Given the description of an element on the screen output the (x, y) to click on. 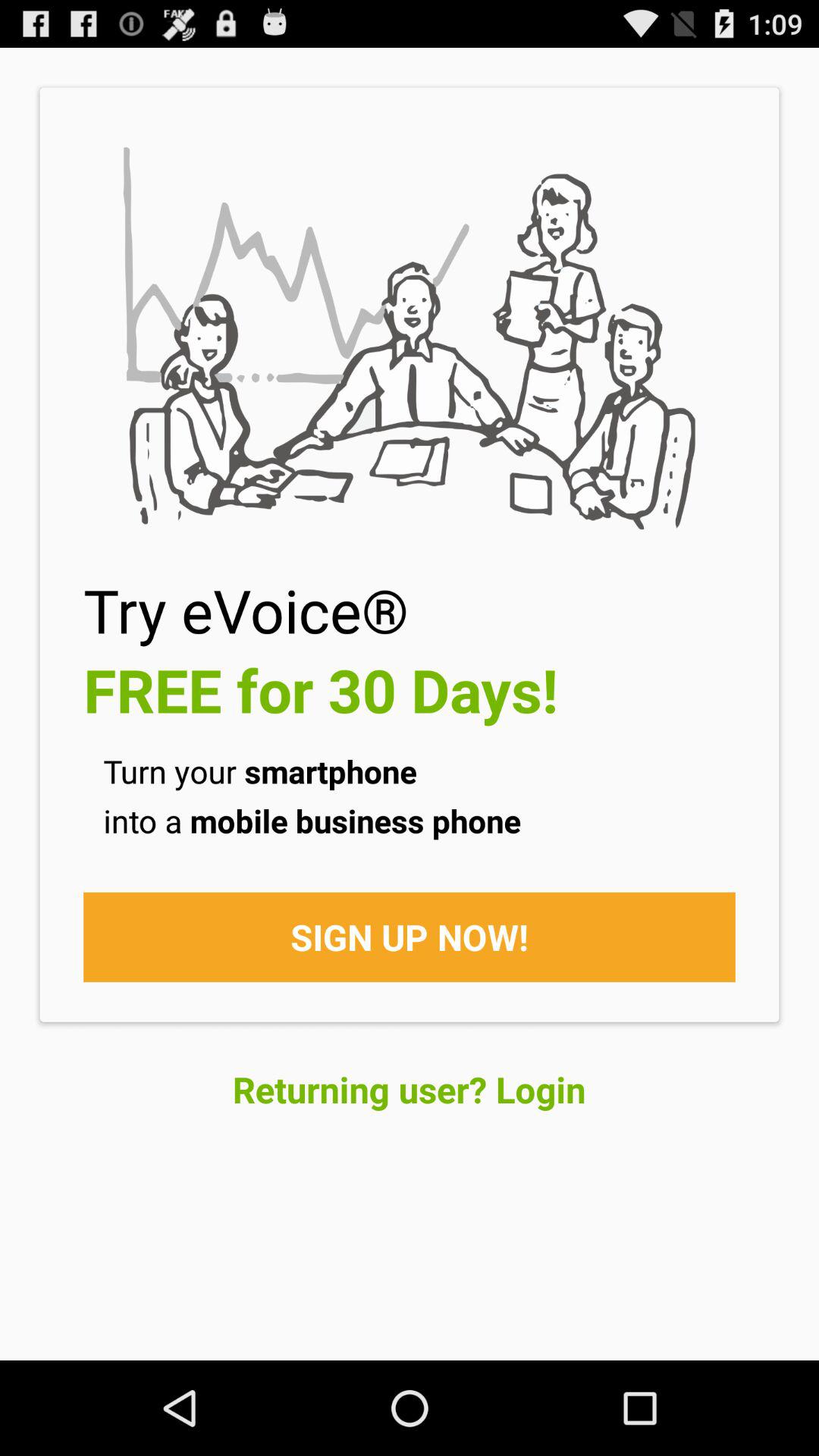
jump to sign up now! icon (409, 937)
